Given the description of an element on the screen output the (x, y) to click on. 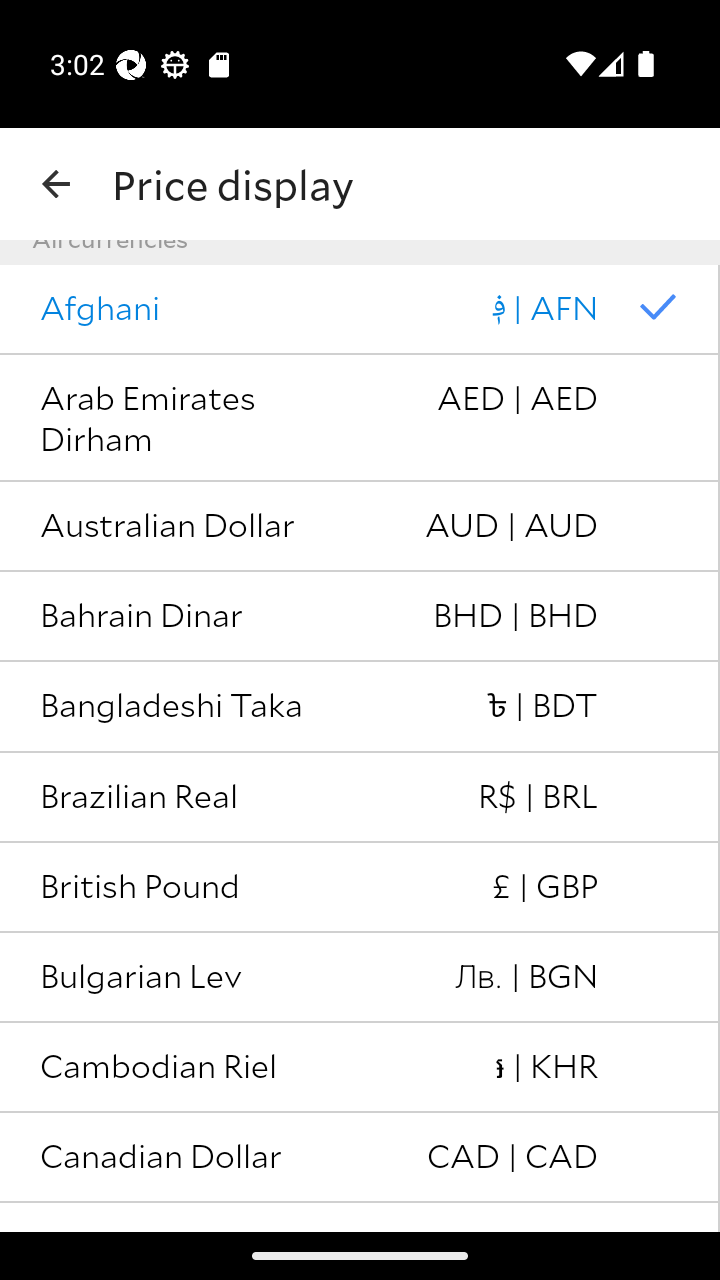
navigation_button (56, 184)
Afghani ‎؋ | AFN (360, 309)
Arab Emirates Dirham AED | AED (360, 418)
Australian Dollar AUD | AUD (360, 527)
Bahrain Dinar BHD | BHD (360, 616)
Bangladeshi Taka ৳ | BDT (360, 706)
Brazilian Real R$ | BRL (360, 797)
British Pound £ | GBP (360, 888)
Bulgarian Lev Лв. | BGN (360, 977)
Cambodian Riel ៛ | KHR (360, 1067)
Canadian Dollar CAD | CAD (360, 1158)
